Given the description of an element on the screen output the (x, y) to click on. 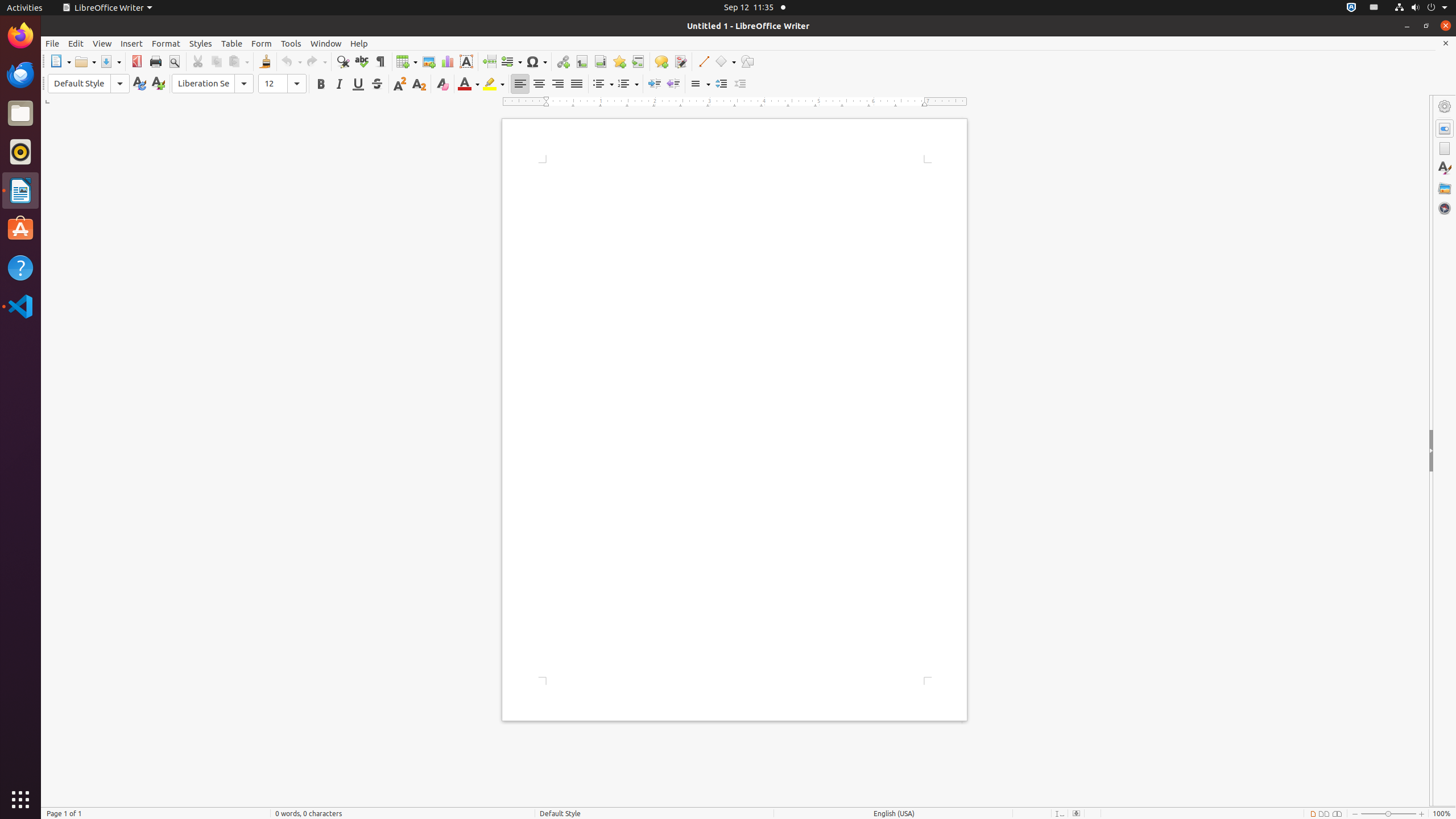
LibreOffice Writer Element type: menu (106, 7)
Highlight Color Element type: push-button (493, 83)
Print Element type: push-button (155, 61)
Thunderbird Mail Element type: push-button (20, 74)
Visual Studio Code Element type: push-button (20, 306)
